Given the description of an element on the screen output the (x, y) to click on. 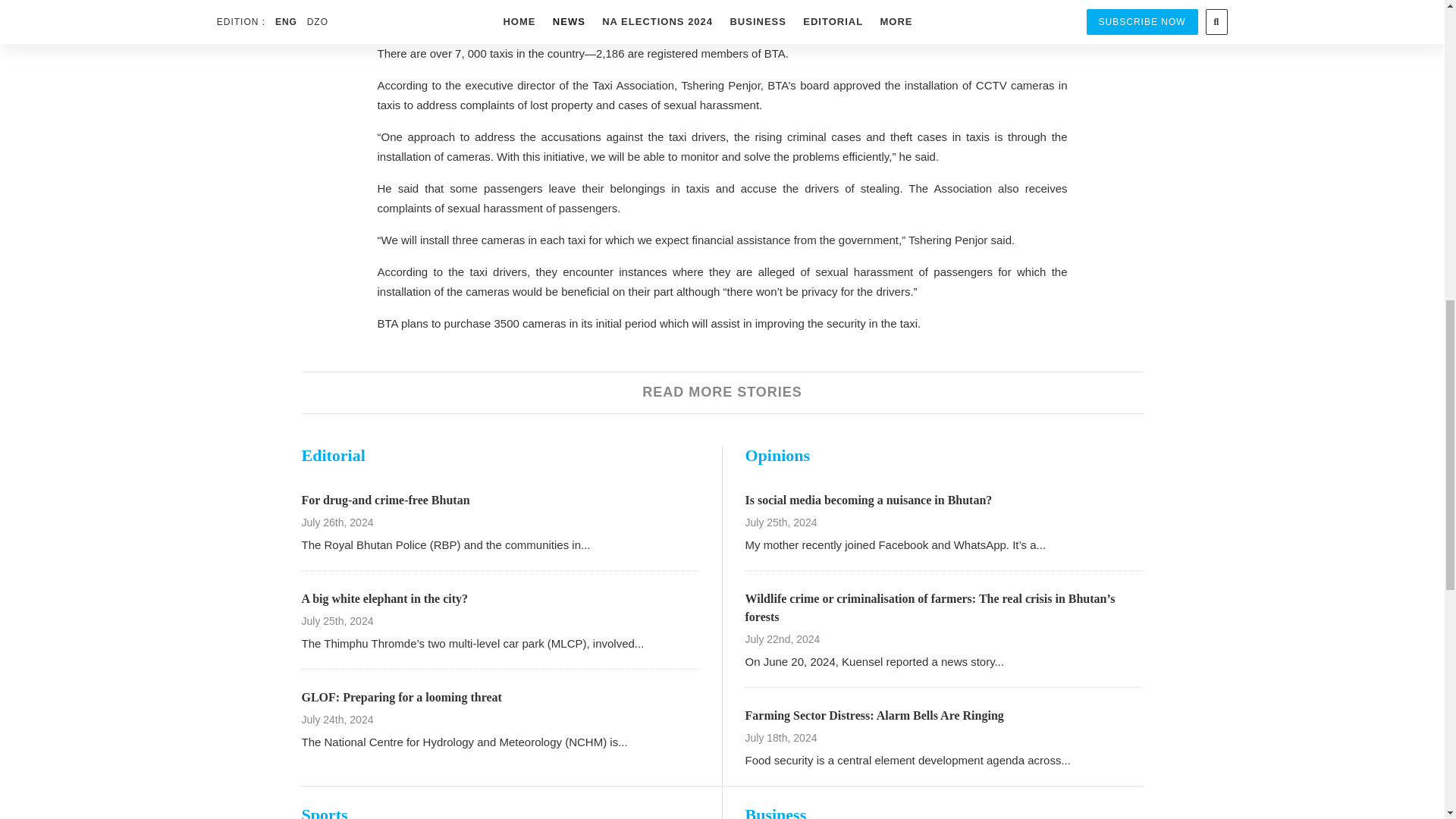
A big white elephant in the city? (384, 598)
For drug-and crime-free Bhutan (385, 499)
Is social media becoming a nuisance in Bhutan? (867, 499)
GLOF: Preparing for a looming threat (401, 697)
Farming Sector Distress: Alarm Bells Are Ringing (873, 715)
